Given the description of an element on the screen output the (x, y) to click on. 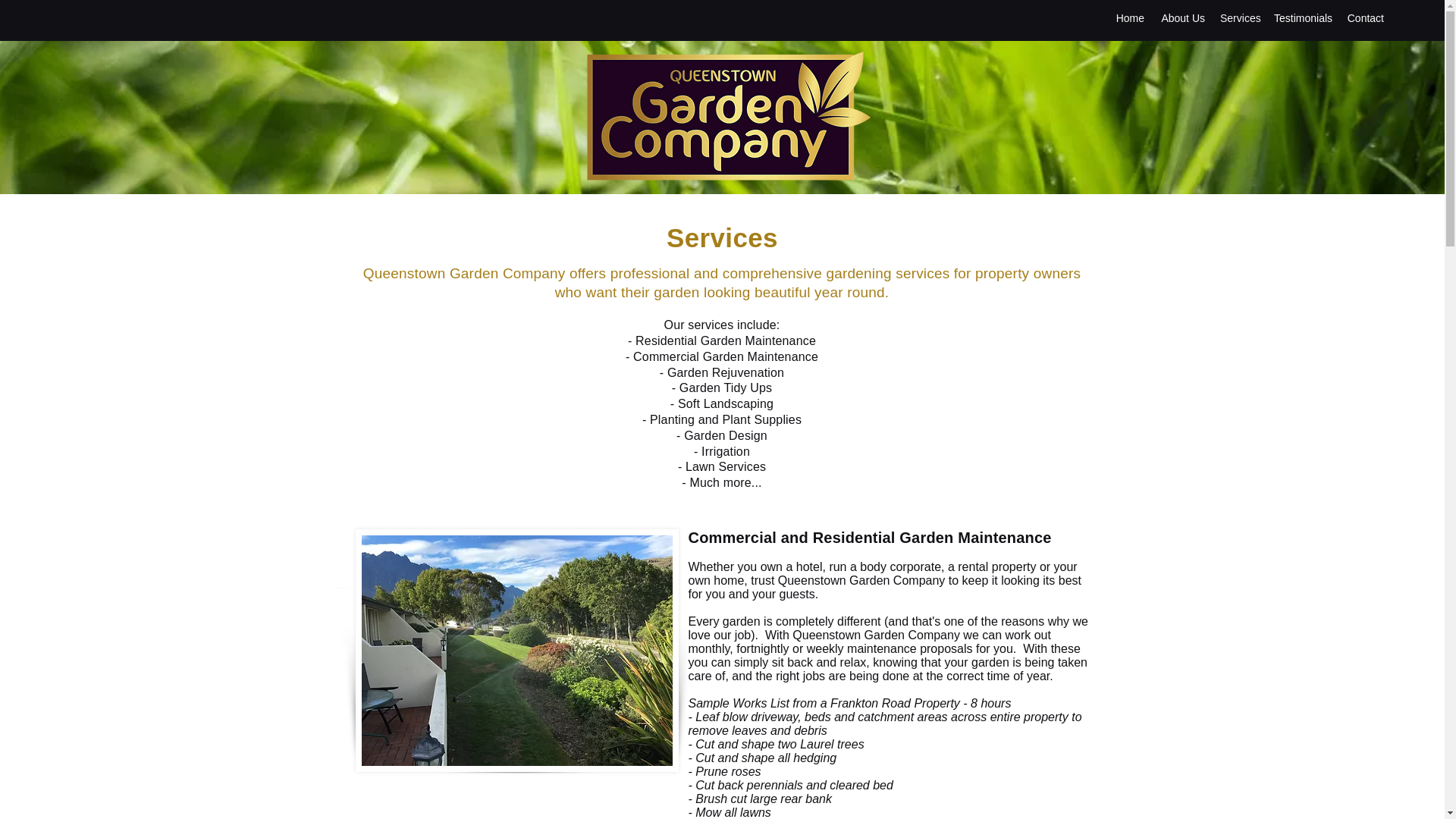
Testimonials (1302, 17)
About Us (1181, 17)
Home (1129, 17)
Services (1239, 17)
Contact (1364, 17)
